Given the description of an element on the screen output the (x, y) to click on. 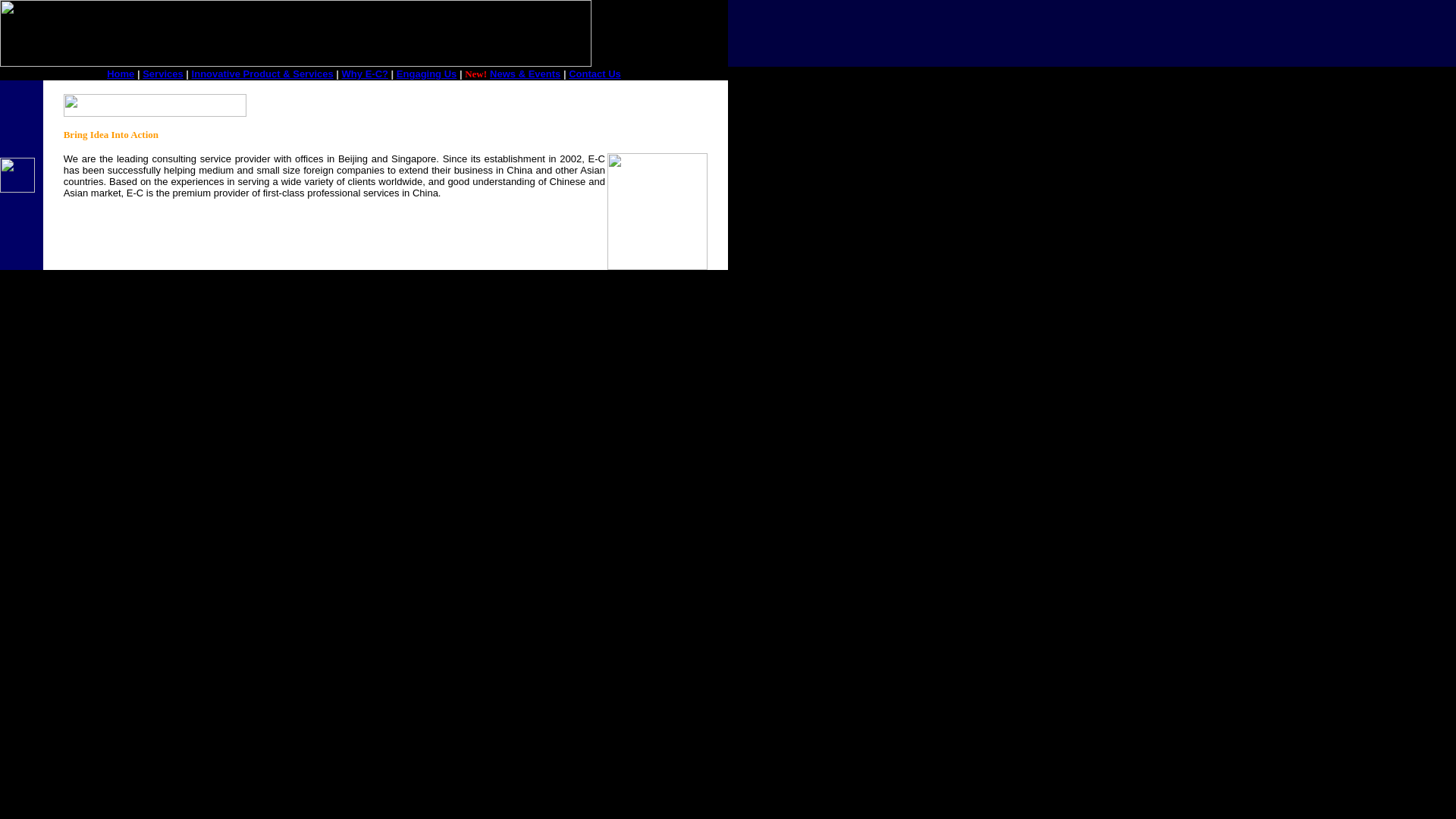
Services (162, 73)
Contact Us (595, 73)
Why E-C? (365, 73)
Engaging Us (426, 73)
Home (119, 73)
